Given the description of an element on the screen output the (x, y) to click on. 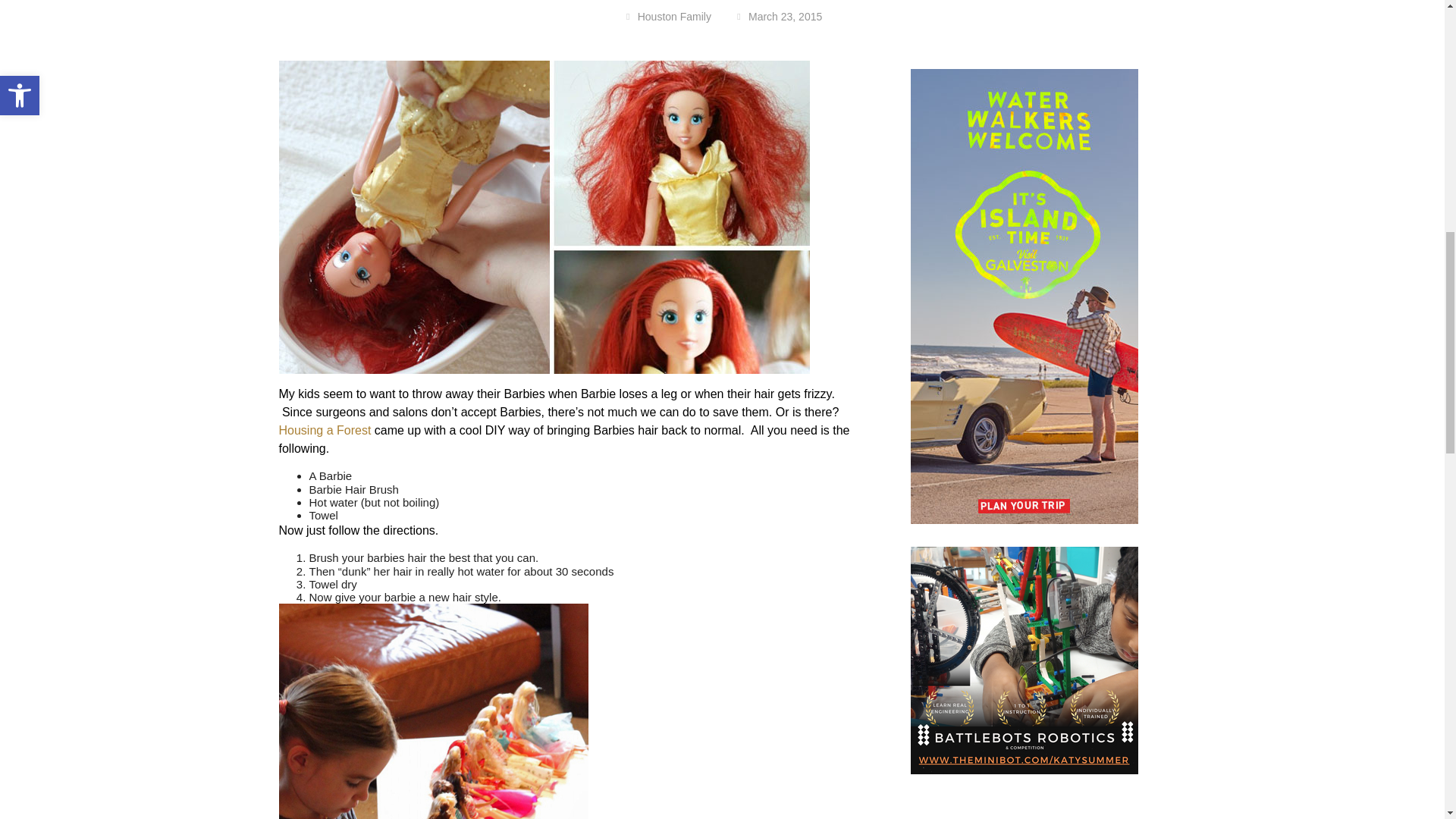
american robotics button summer 24 (1024, 660)
